Given the description of an element on the screen output the (x, y) to click on. 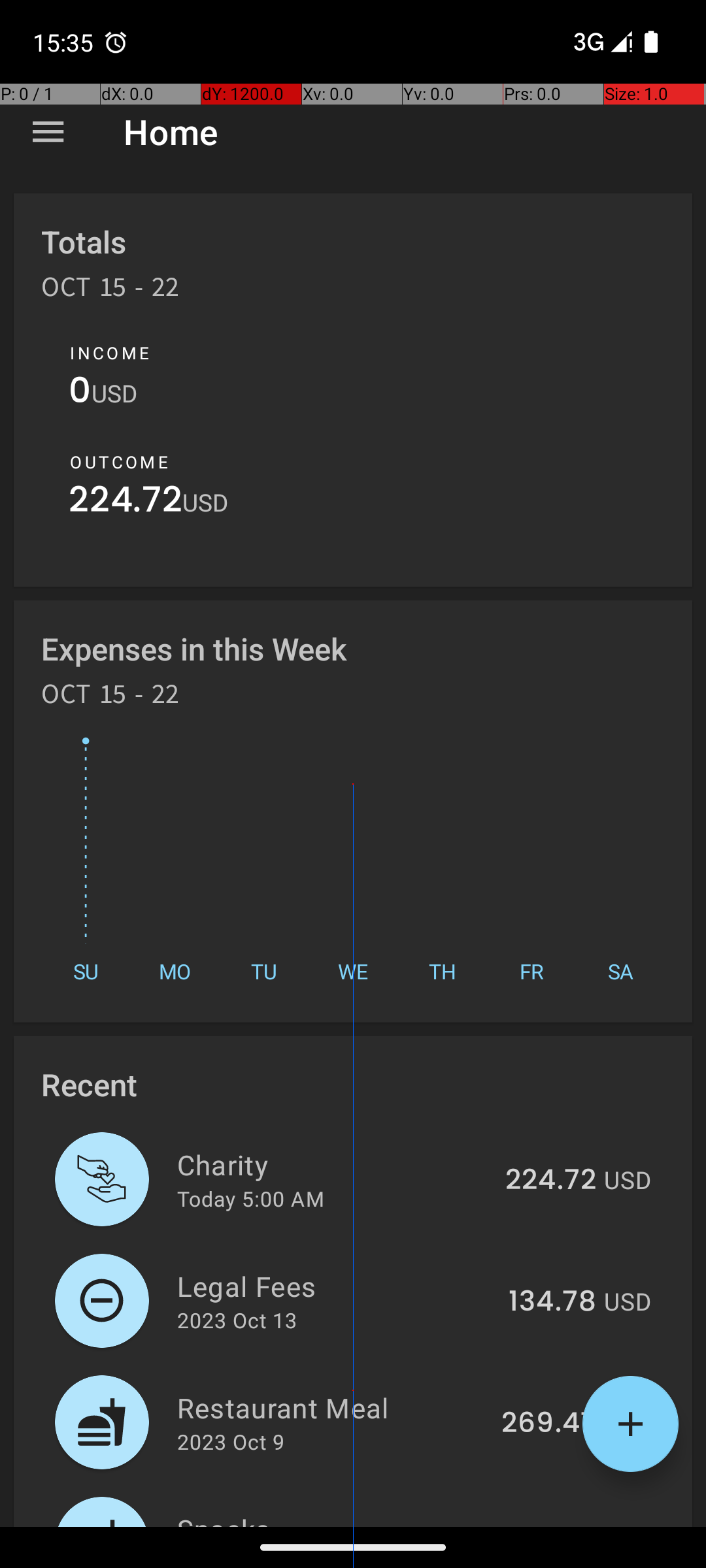
224.72 Element type: android.widget.TextView (125, 502)
Charity Element type: android.widget.TextView (333, 1164)
Legal Fees Element type: android.widget.TextView (335, 1285)
134.78 Element type: android.widget.TextView (551, 1301)
Restaurant Meal Element type: android.widget.TextView (331, 1407)
269.47 Element type: android.widget.TextView (548, 1423)
Snacks Element type: android.widget.TextView (331, 1518)
473.64 Element type: android.widget.TextView (548, 1524)
